Given the description of an element on the screen output the (x, y) to click on. 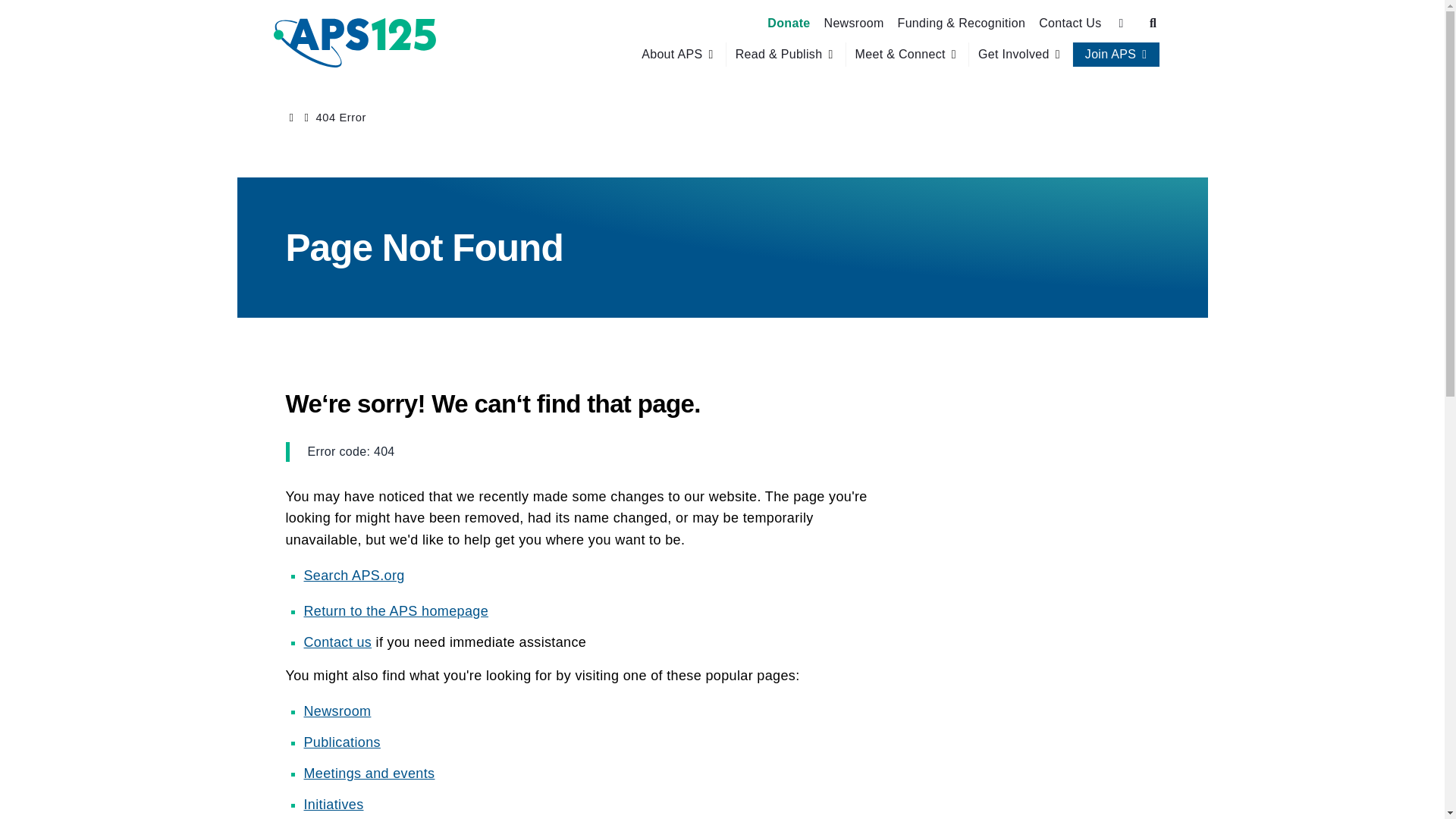
Contact Us (1069, 23)
Return to the APS homepage (394, 611)
Publications (341, 742)
Search APS.org (353, 575)
View Get Involved options (1020, 54)
Newsroom (336, 711)
Join APS (1110, 54)
Donate (788, 23)
About APS (671, 54)
404 Error (340, 117)
